Given the description of an element on the screen output the (x, y) to click on. 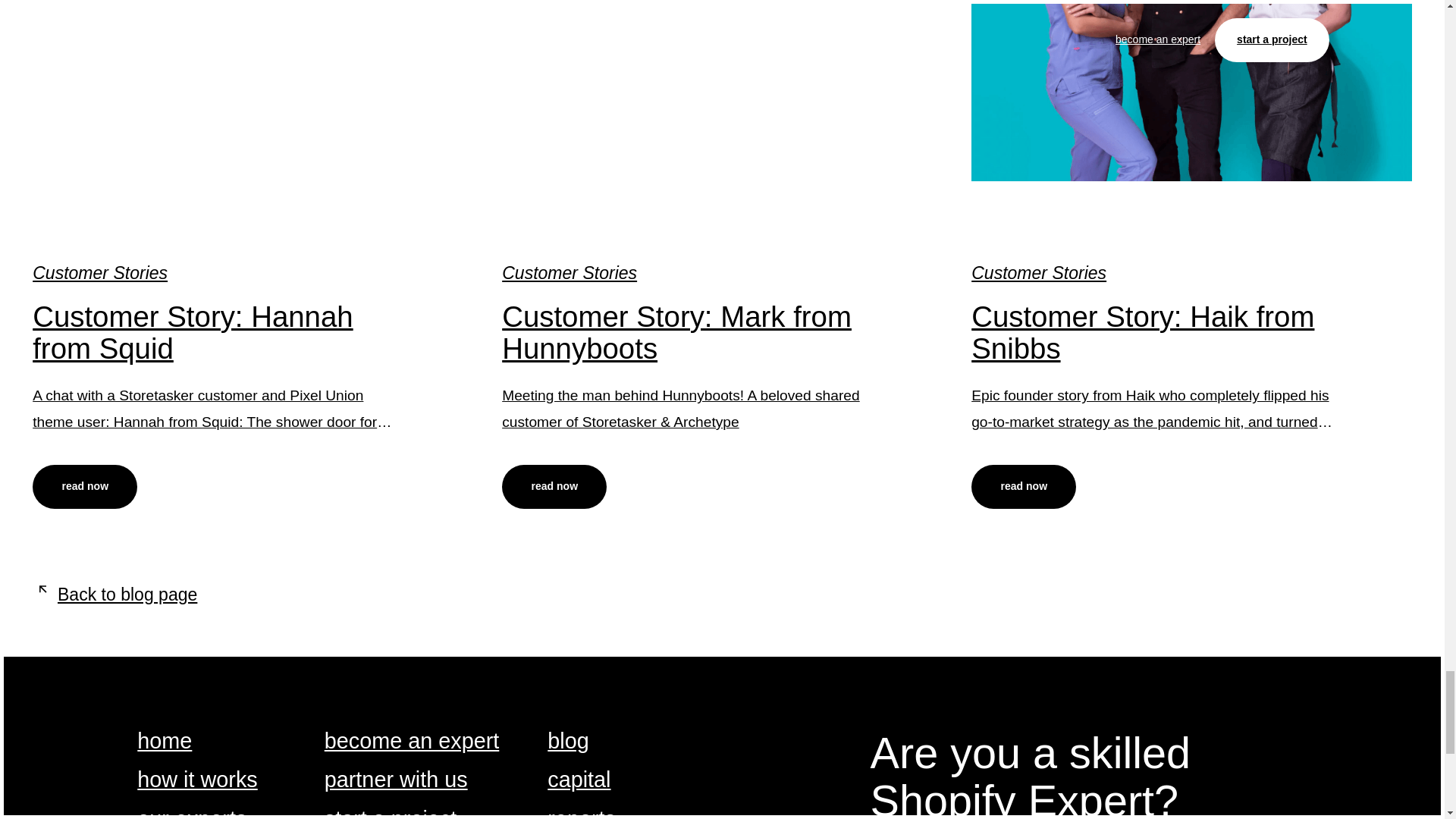
our experts (191, 813)
Back to blog page (114, 594)
reports (581, 813)
partner with us (395, 780)
home (164, 741)
blog (567, 741)
capital (578, 780)
become an expert (411, 741)
start a project (390, 813)
how it works (196, 780)
